Given the description of an element on the screen output the (x, y) to click on. 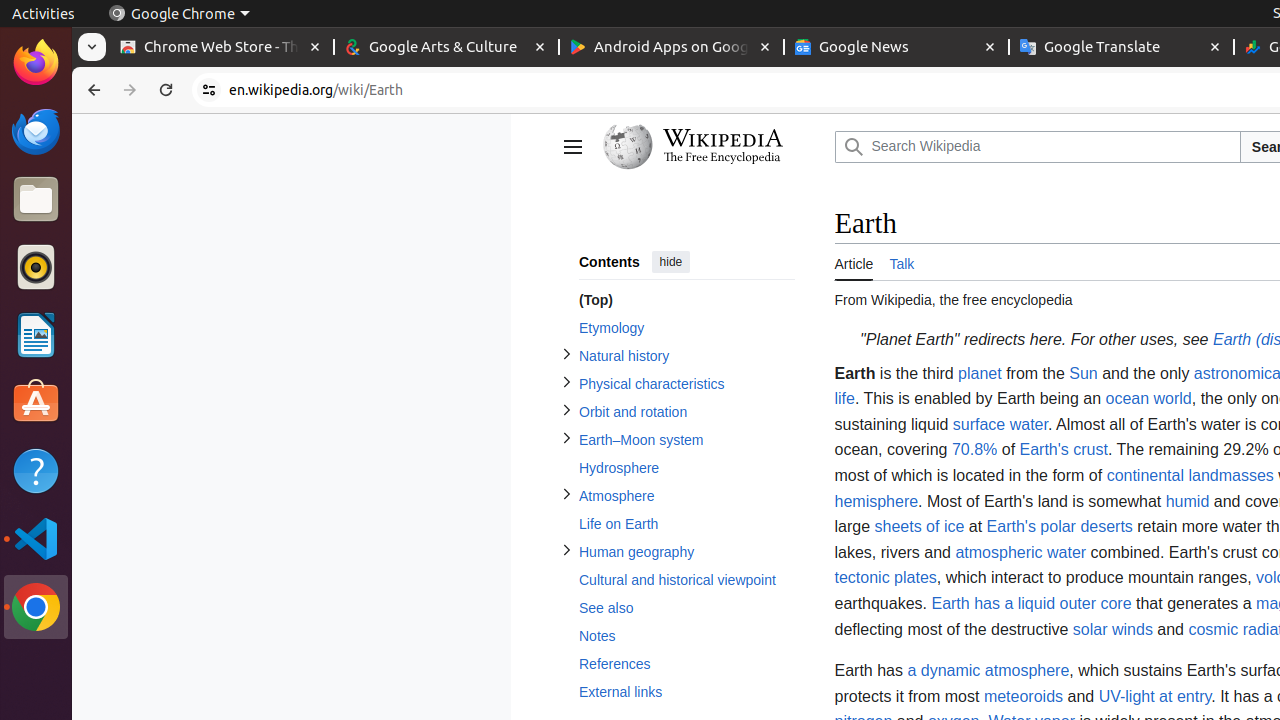
Notes Element type: link (686, 636)
Toggle Earth–Moon system subsection Element type: push-button (566, 438)
Firefox Web Browser Element type: push-button (36, 63)
atmospheric water Element type: link (1021, 552)
Orbit and rotation Element type: link (686, 412)
